Given the description of an element on the screen output the (x, y) to click on. 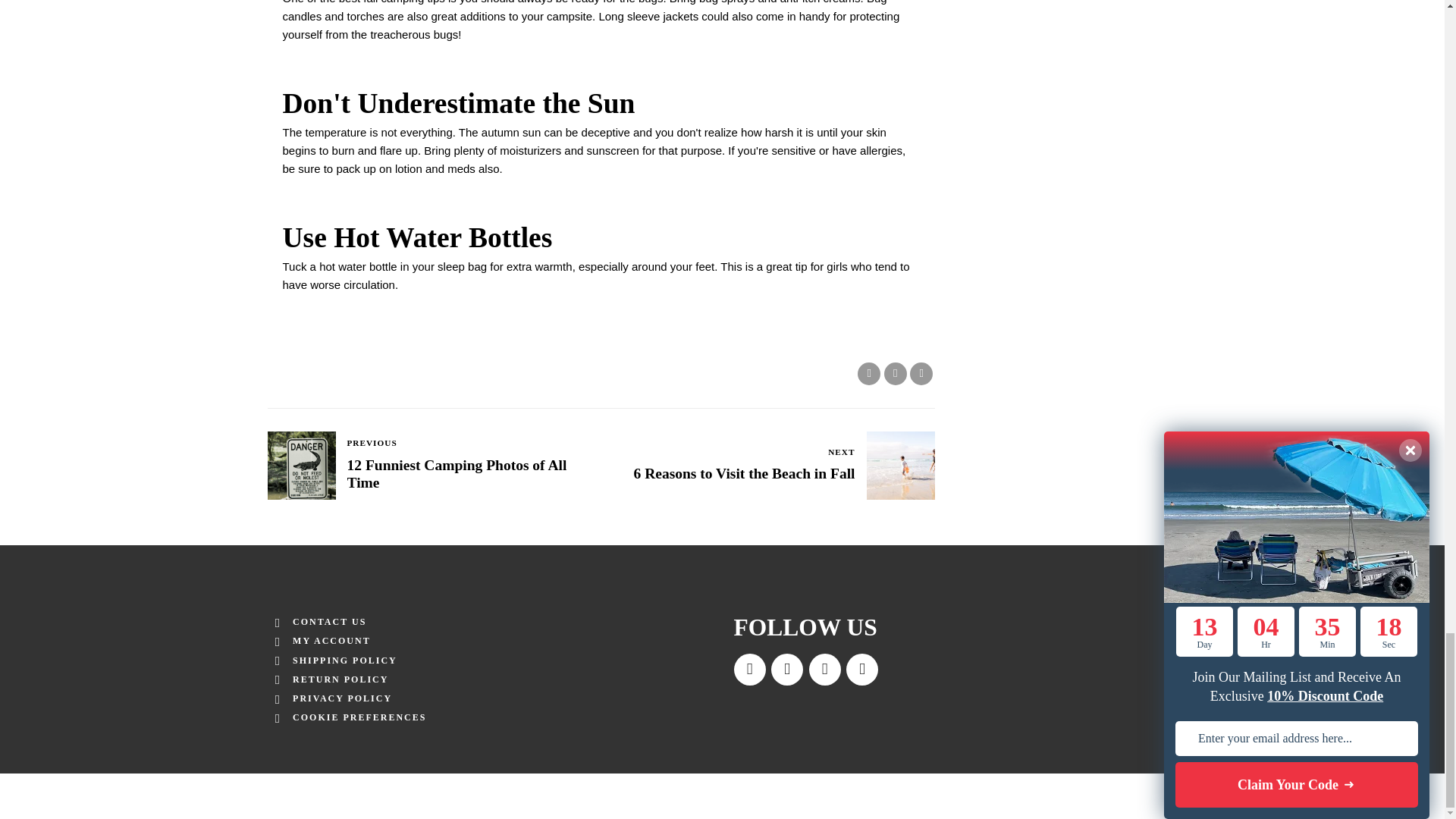
Share on Twitter (895, 373)
Share on Linkedin (921, 373)
Share on Facebook (766, 465)
